Given the description of an element on the screen output the (x, y) to click on. 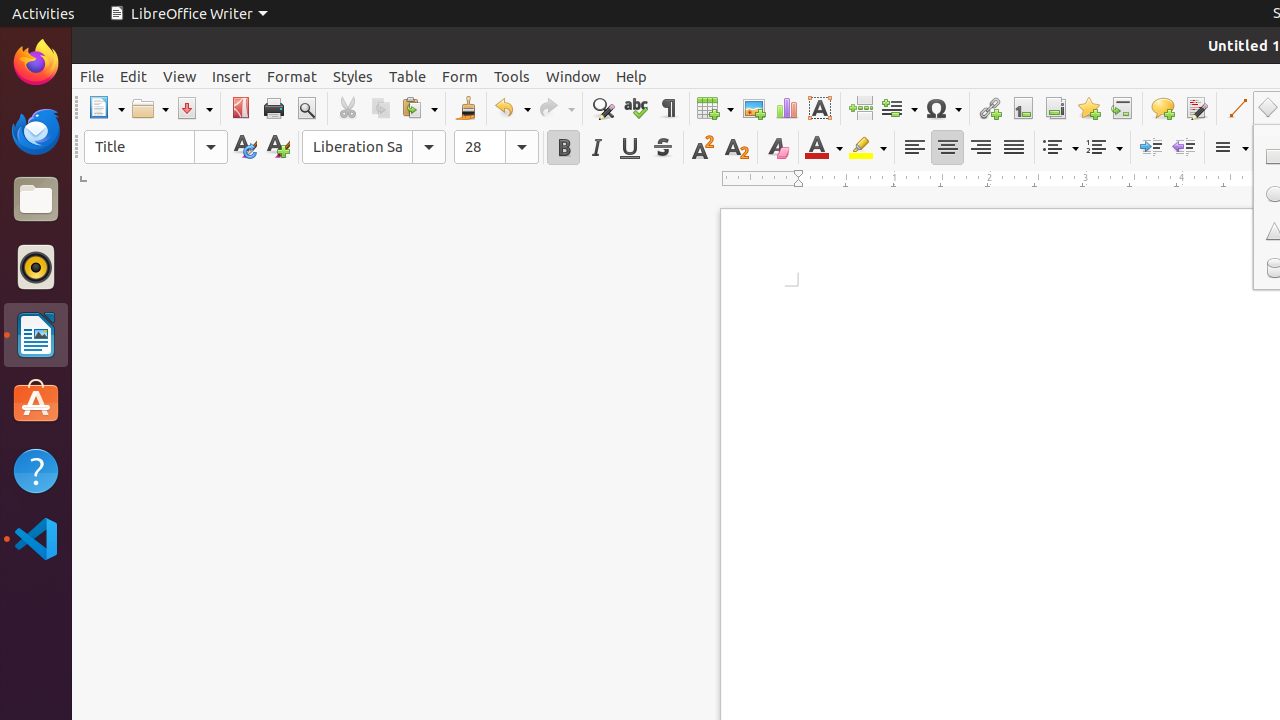
Update Element type: push-button (244, 147)
Line Spacing Element type: push-button (1230, 147)
View Element type: menu (179, 76)
LibreOffice Writer Element type: menu (188, 13)
Hyperlink Element type: toggle-button (989, 108)
